Given the description of an element on the screen output the (x, y) to click on. 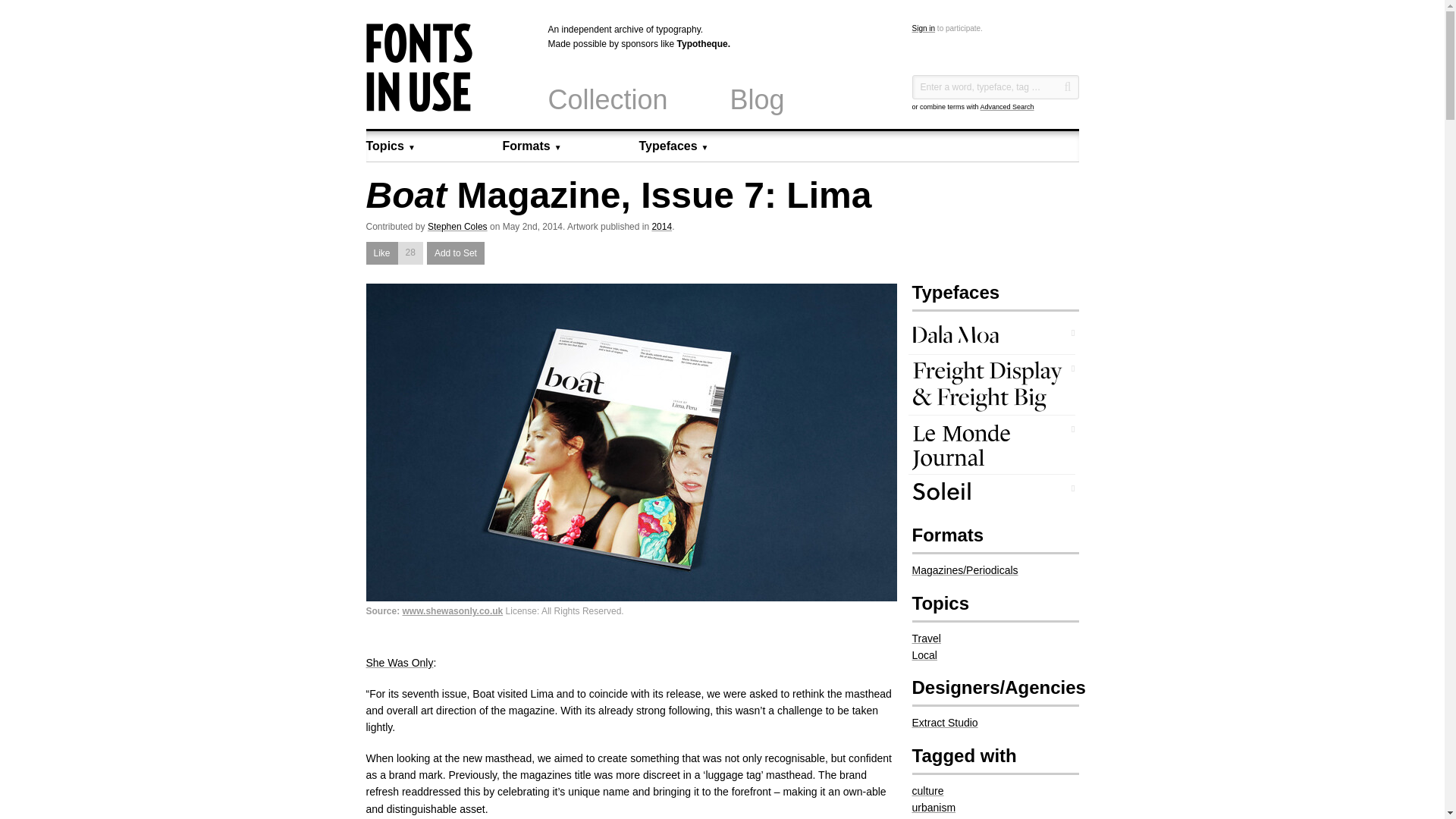
Fonts in Use (418, 108)
Made possible by sponsors like Typotheque. (684, 43)
Sign in (922, 28)
